Given the description of an element on the screen output the (x, y) to click on. 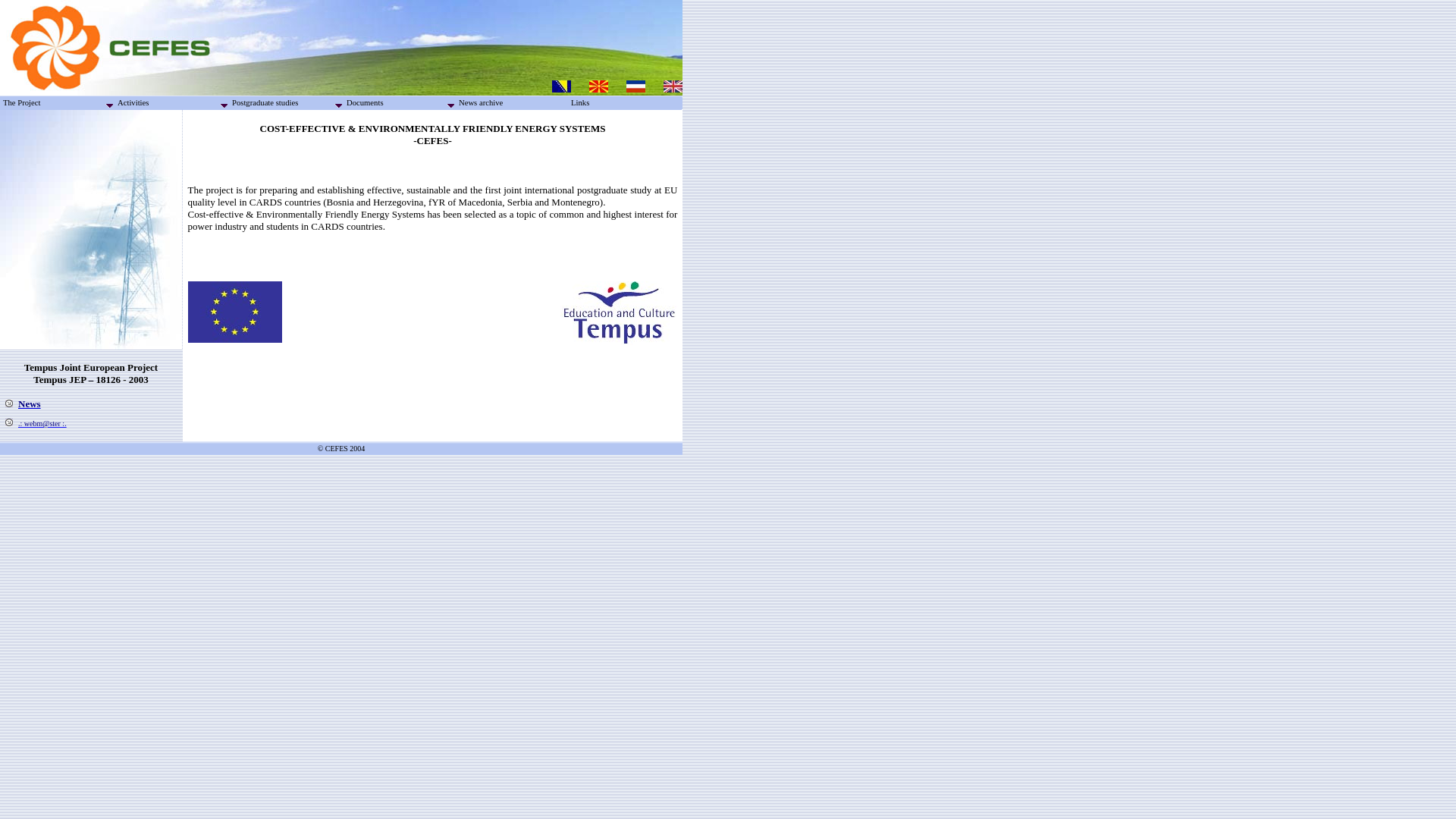
.: webm@ster :. Element type: text (42, 423)
News Element type: text (29, 403)
